Given the description of an element on the screen output the (x, y) to click on. 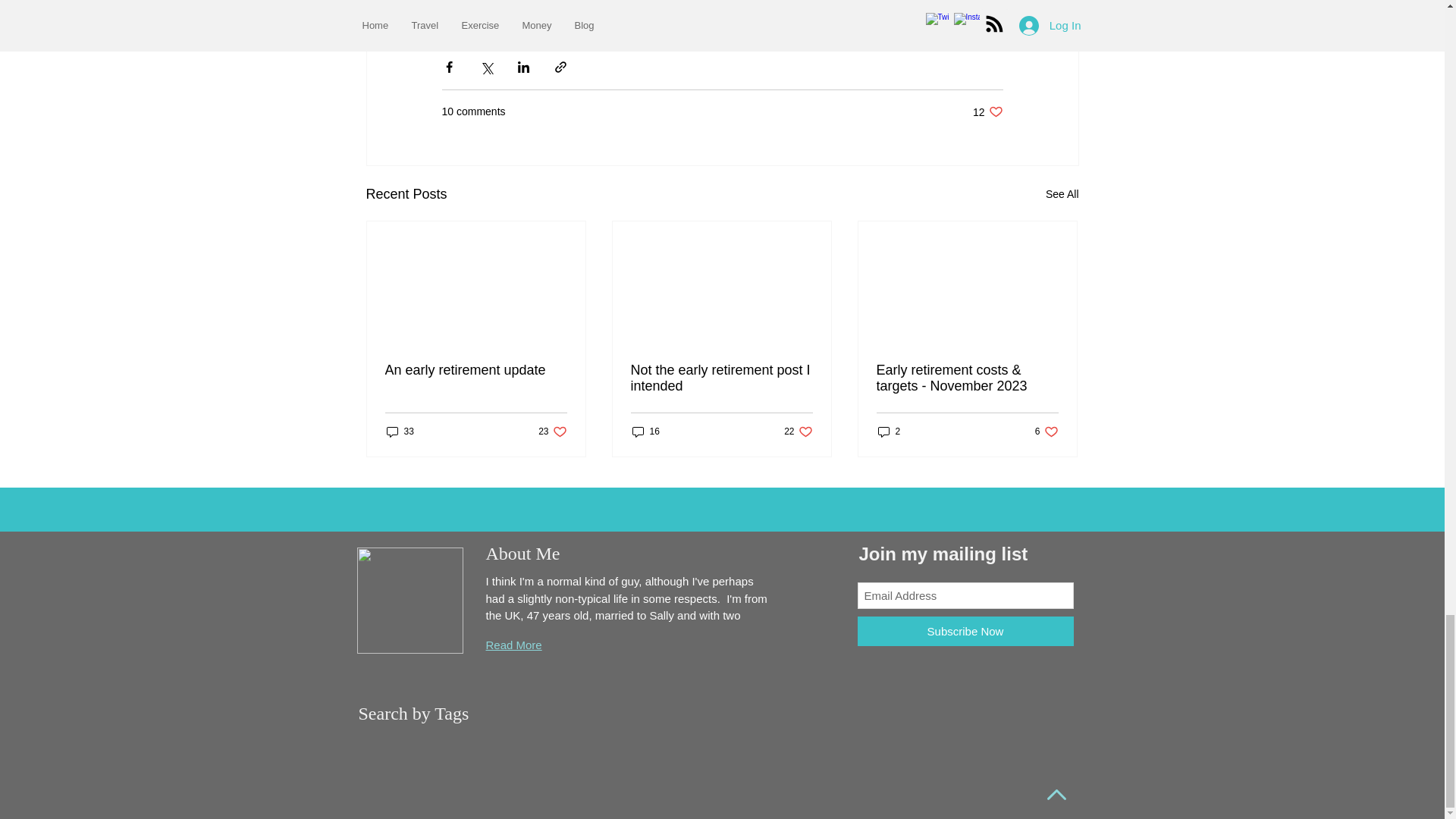
See All (1061, 194)
16 (552, 431)
2 (645, 431)
33 (889, 431)
Read More (399, 431)
An early retirement update (512, 644)
Not the early retirement post I intended (987, 111)
